Given the description of an element on the screen output the (x, y) to click on. 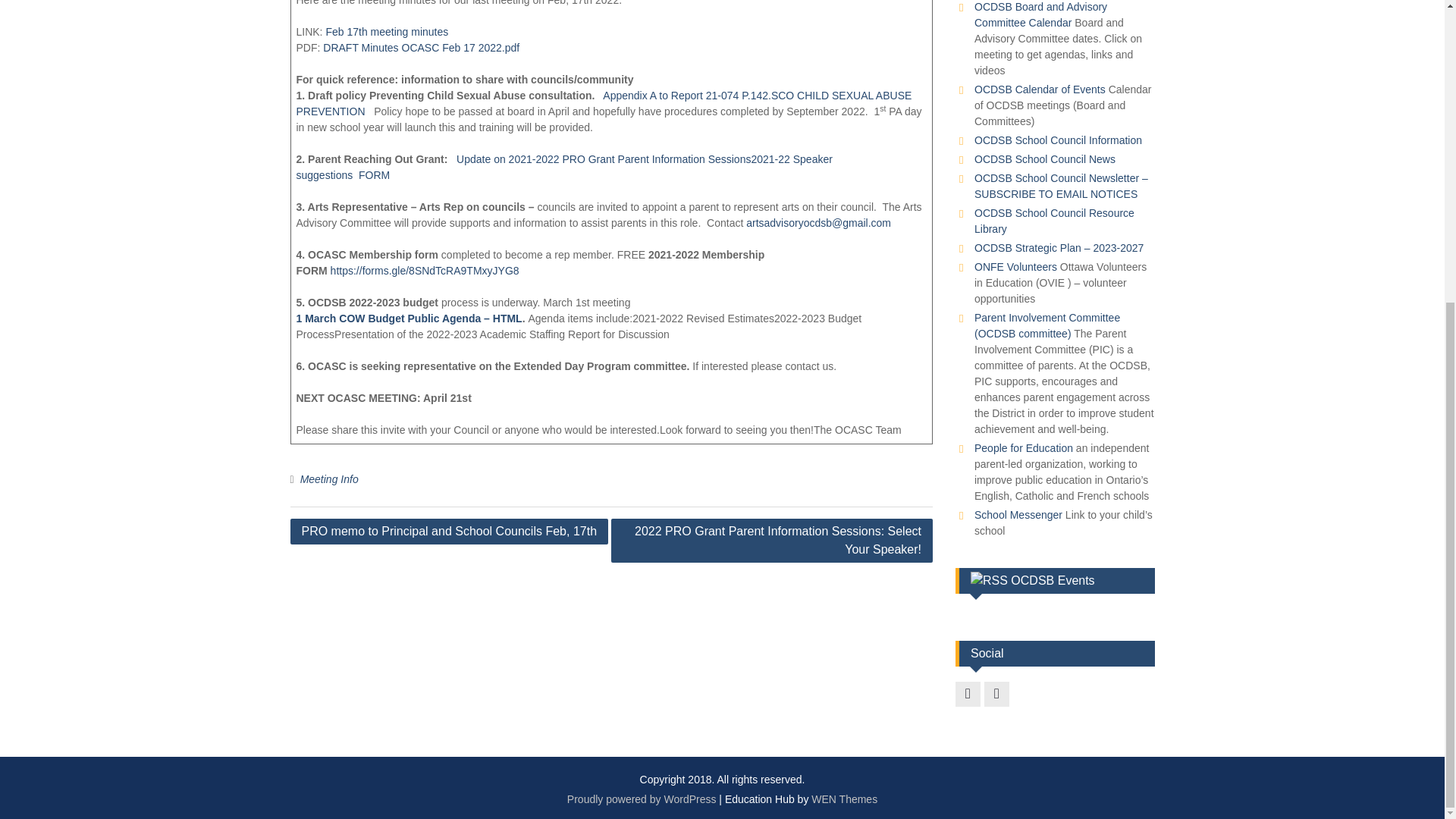
PRO memo to Principal and School Councils Feb, 17th (448, 531)
OCDSB School Council Resource Library (1054, 221)
Feb 17th meeting minutes (386, 31)
OCDSB Board and Advisory Committee Calendar (1040, 14)
Update on 2021-2022 PRO Grant Parent Information Sessions (604, 159)
Meeting Info (328, 479)
OCDSB Calendar of Events (1039, 89)
2021-22 Speaker suggestions  FORM (563, 166)
DRAFT Minutes OCASC Feb 17 2022.pdf (421, 47)
OCDSB School Council News (1044, 159)
OCDSB School Council Information (1057, 140)
